Given the description of an element on the screen output the (x, y) to click on. 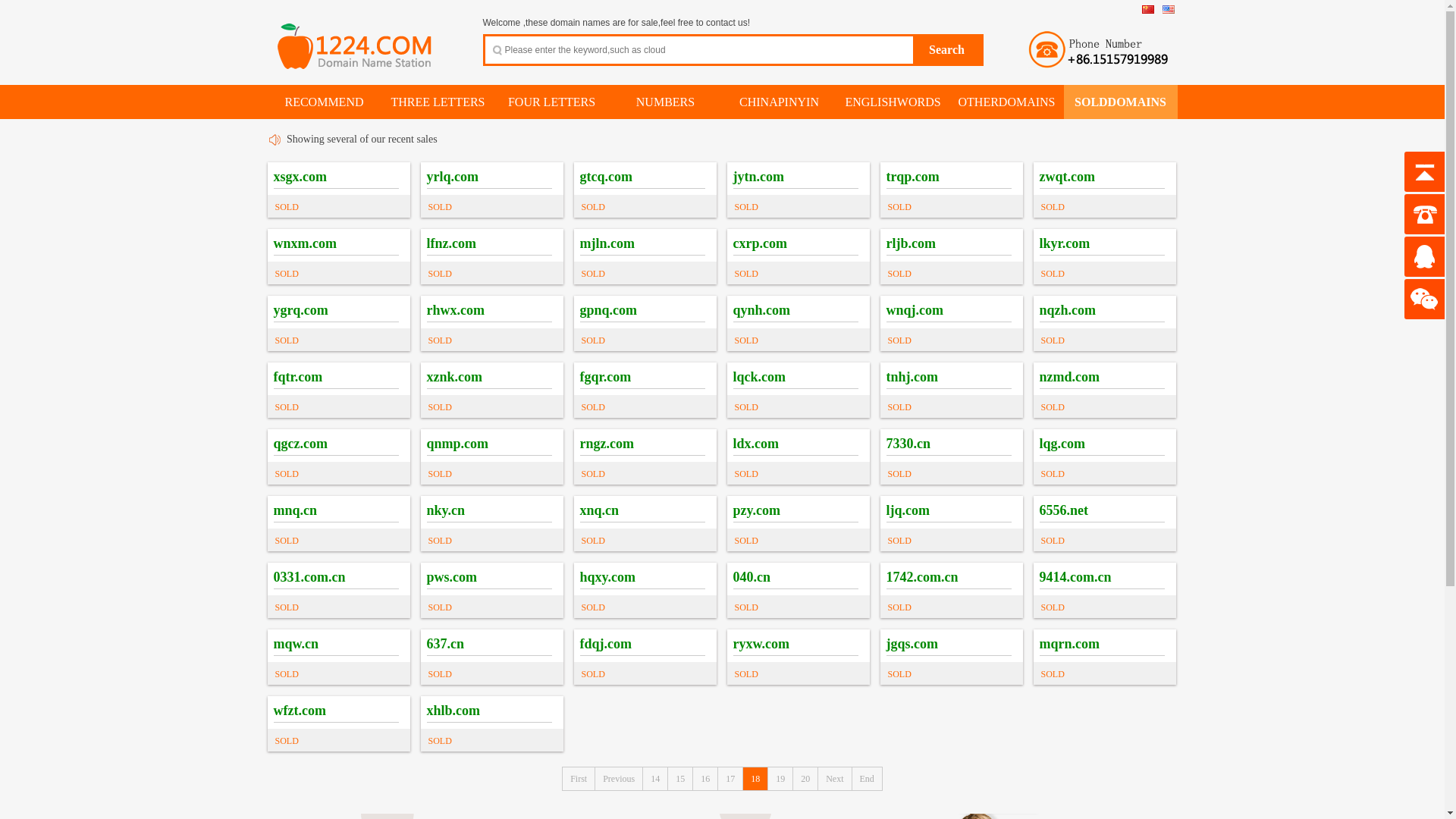
rngz.com Element type: text (606, 443)
jytn.com Element type: text (757, 176)
xnq.cn Element type: text (598, 509)
cxrp.com Element type: text (759, 243)
040.cn Element type: text (751, 576)
ygrq.com Element type: text (300, 309)
mnq.cn Element type: text (294, 509)
pzy.com Element type: text (756, 509)
qgcz.com Element type: text (299, 443)
gtcq.com Element type: text (605, 176)
xsgx.com Element type: text (299, 176)
15 Element type: text (680, 778)
18 Element type: text (755, 778)
wnqj.com Element type: text (914, 309)
fqtr.com Element type: text (297, 376)
xznk.com Element type: text (454, 376)
14 Element type: text (655, 778)
mqrn.com Element type: text (1068, 643)
qnmp.com Element type: text (457, 443)
End Element type: text (867, 778)
6556.net Element type: text (1063, 509)
lqg.com Element type: text (1061, 443)
ryxw.com Element type: text (760, 643)
637.cn Element type: text (445, 643)
lqck.com Element type: text (758, 376)
ljq.com Element type: text (907, 509)
gpnq.com Element type: text (608, 309)
rljb.com Element type: text (910, 243)
rhwx.com Element type: text (454, 309)
jgqs.com Element type: text (911, 643)
SOLDDOMAINS Element type: text (1119, 101)
0331.com.cn Element type: text (309, 576)
ldx.com Element type: text (755, 443)
RECOMMEND Element type: text (323, 101)
16 Element type: text (705, 778)
lfnz.com Element type: text (450, 243)
OTHERDOMAINS Element type: text (1006, 101)
wfzt.com Element type: text (299, 710)
nky.cn Element type: text (445, 509)
1742.com.cn Element type: text (921, 576)
Previous Element type: text (619, 778)
tnhj.com Element type: text (911, 376)
THREE LETTERS Element type: text (438, 101)
Search Element type: text (947, 49)
9414.com.cn Element type: text (1074, 576)
qynh.com Element type: text (761, 309)
FOUR LETTERS Element type: text (551, 101)
mqw.cn Element type: text (295, 643)
xhlb.com Element type: text (453, 710)
fgqr.com Element type: text (604, 376)
lkyr.com Element type: text (1063, 243)
First Element type: text (578, 778)
17 Element type: text (730, 778)
NUMBERS Element type: text (665, 101)
mjln.com Element type: text (606, 243)
Next Element type: text (834, 778)
CHINAPINYIN Element type: text (779, 101)
trqp.com Element type: text (911, 176)
zwqt.com Element type: text (1066, 176)
7330.cn Element type: text (907, 443)
nzmd.com Element type: text (1068, 376)
hqxy.com Element type: text (607, 576)
pws.com Element type: text (451, 576)
wnxm.com Element type: text (304, 243)
20 Element type: text (805, 778)
nqzh.com Element type: text (1066, 309)
19 Element type: text (780, 778)
ENGLISHWORDS Element type: text (892, 101)
yrlq.com Element type: text (451, 176)
fdqj.com Element type: text (605, 643)
